Given the description of an element on the screen output the (x, y) to click on. 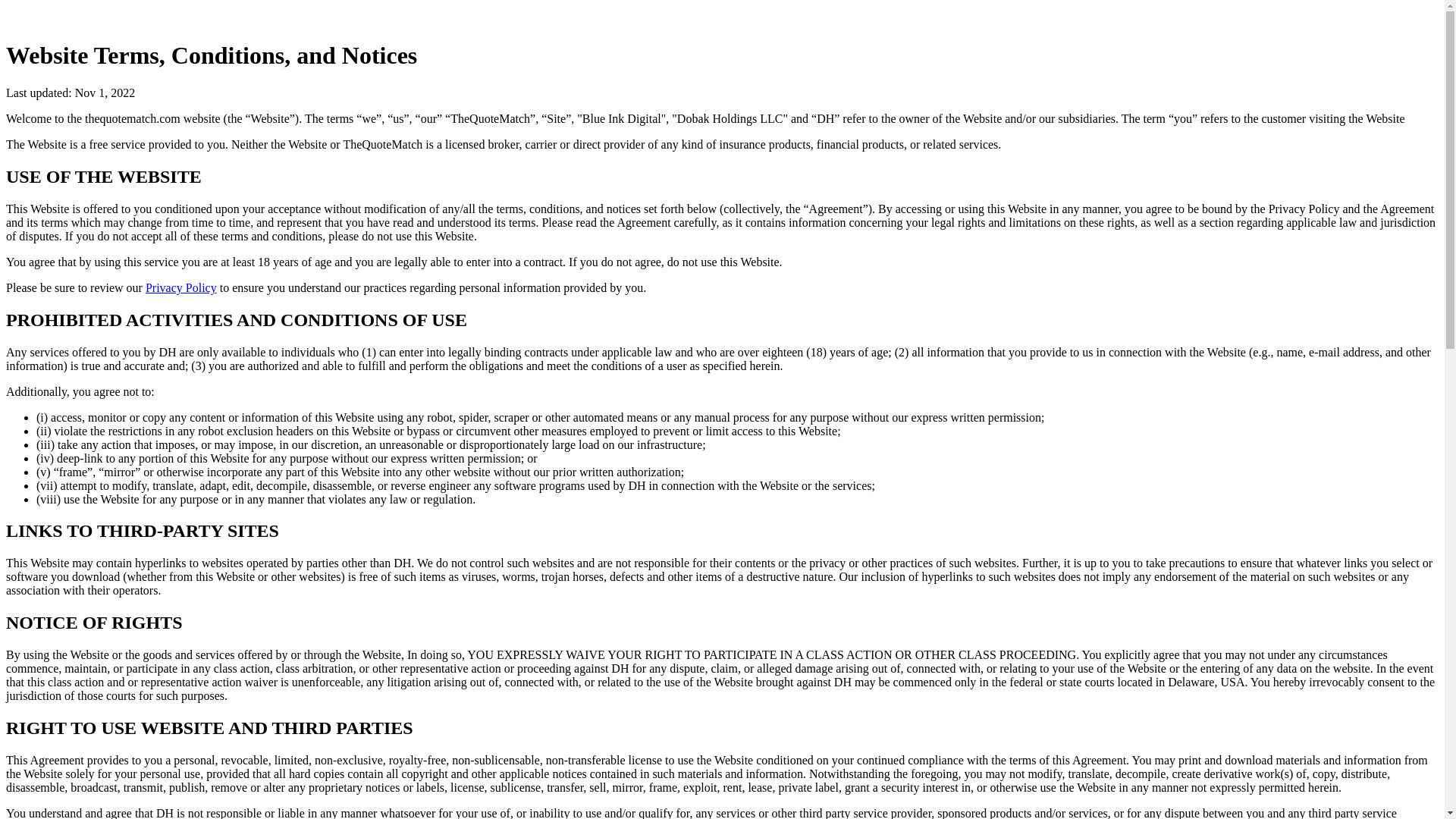
Privacy Policy (180, 287)
